Given the description of an element on the screen output the (x, y) to click on. 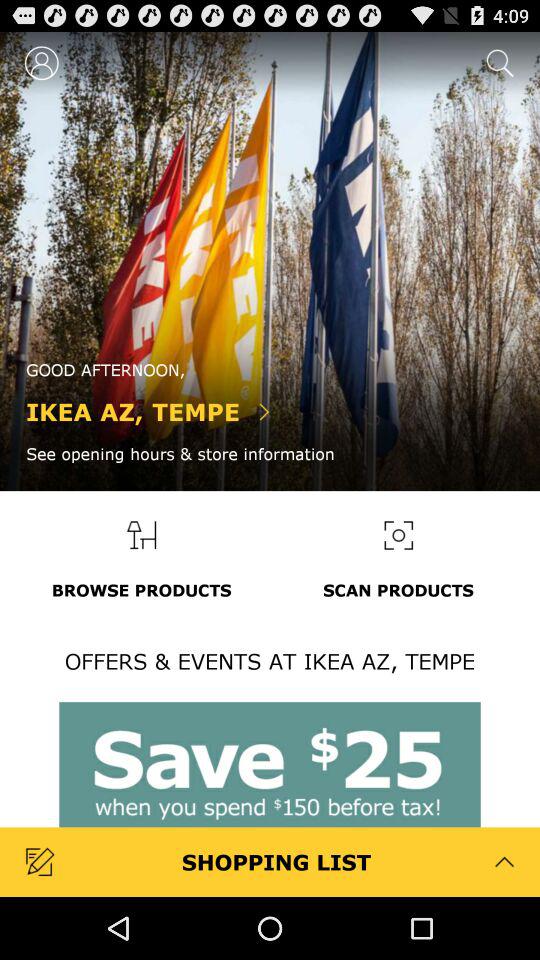
open the icon at the top left corner (42, 62)
